Given the description of an element on the screen output the (x, y) to click on. 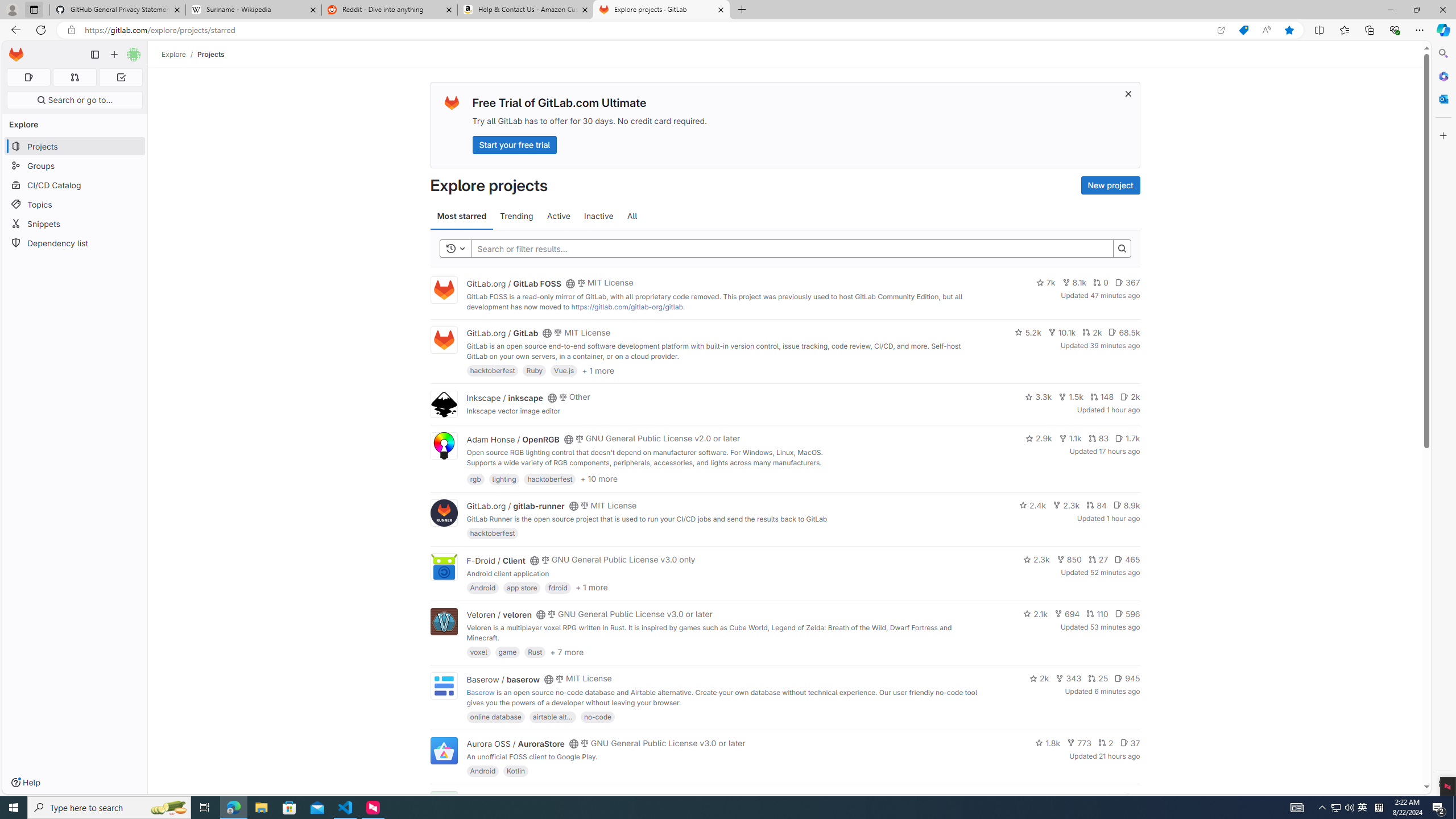
465 (1127, 559)
0 (1100, 282)
Dependency list (74, 242)
83 (1098, 438)
1.7k (1127, 438)
Class: project (443, 750)
1 (1111, 797)
CI/CD Catalog (74, 185)
Groups (74, 165)
Suriname - Wikipedia (253, 9)
Primary navigation sidebar (94, 54)
